Given the description of an element on the screen output the (x, y) to click on. 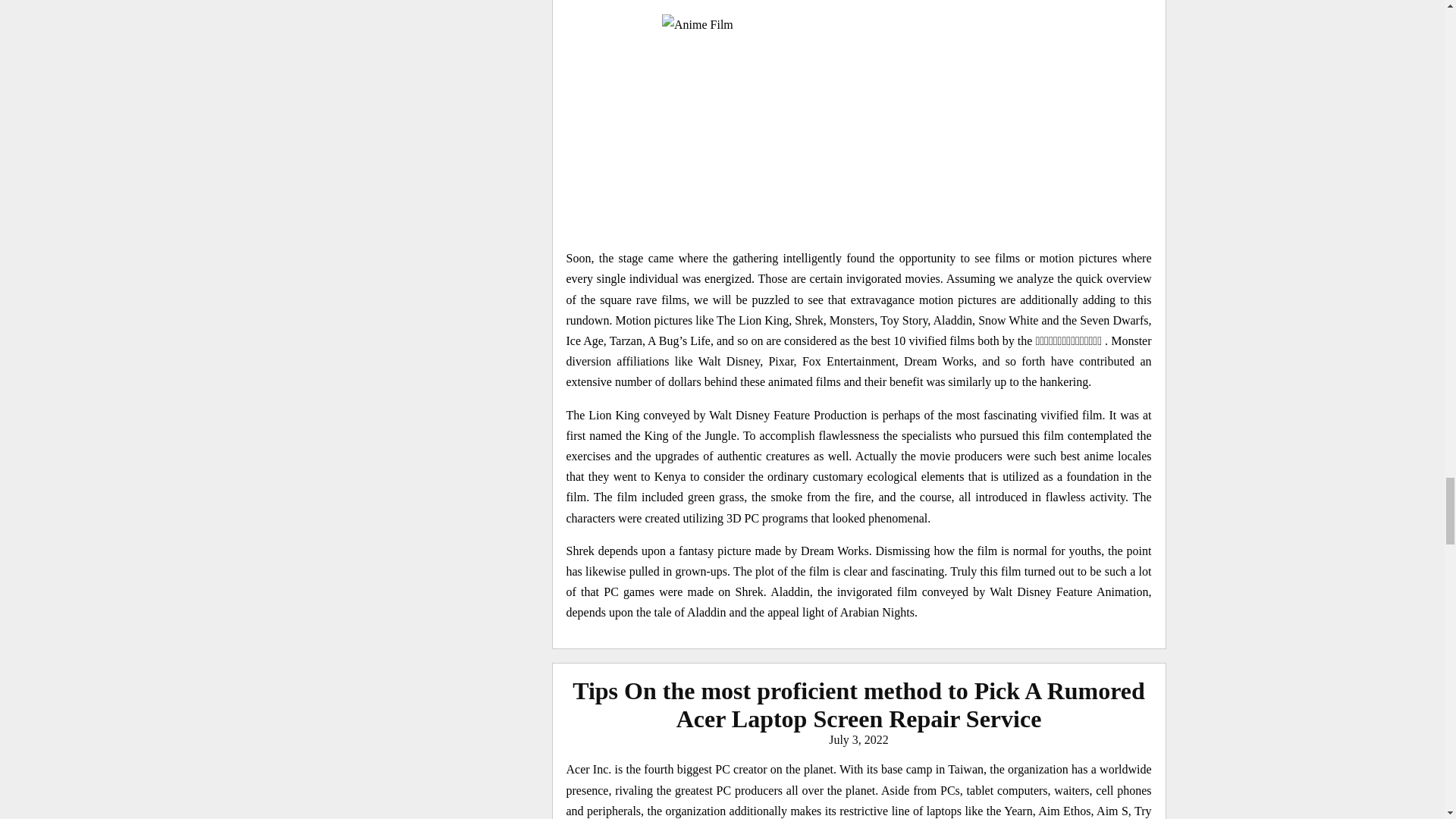
July 3, 2022 (858, 739)
